Given the description of an element on the screen output the (x, y) to click on. 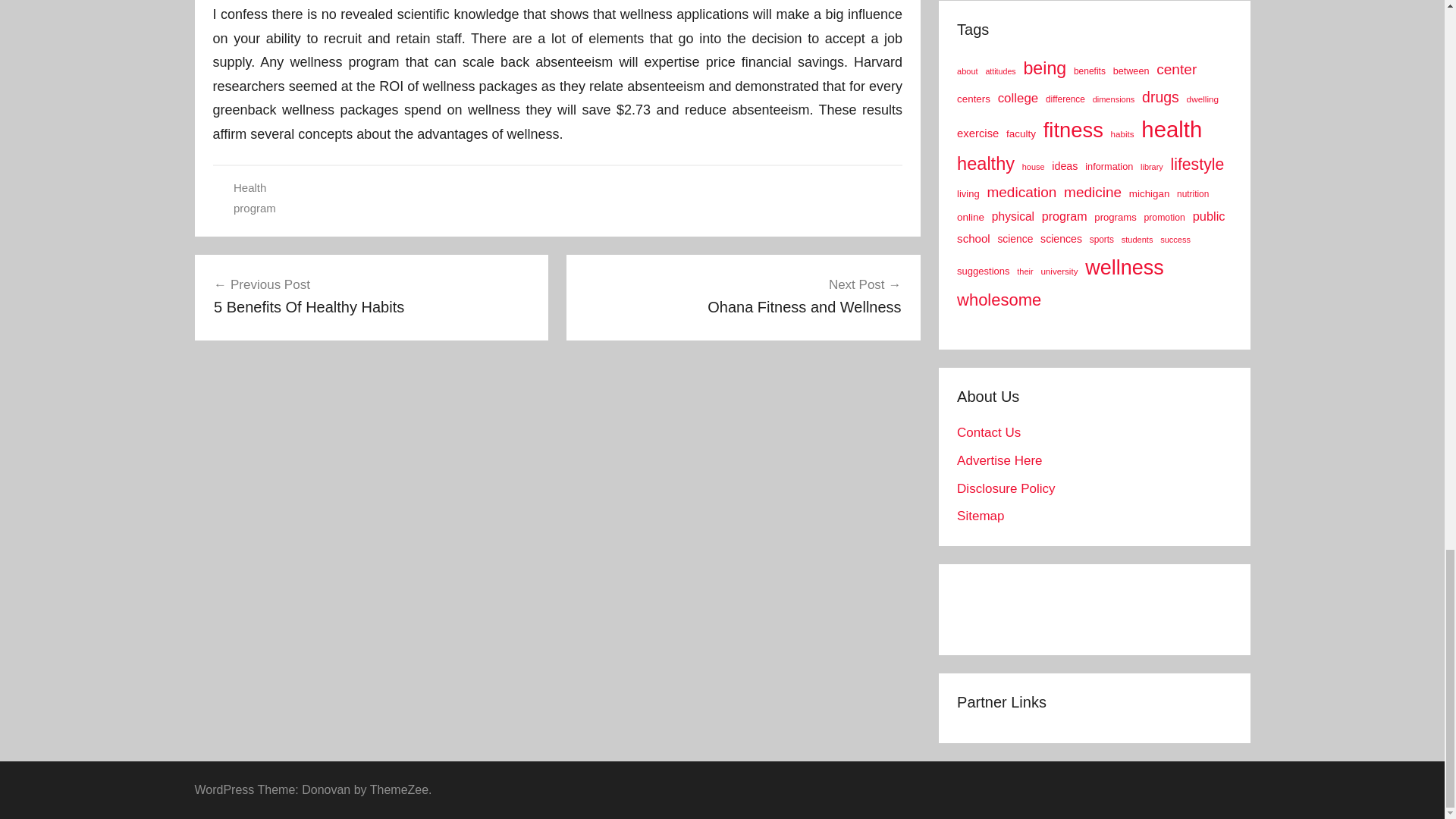
Health (249, 187)
program (254, 207)
